Given the description of an element on the screen output the (x, y) to click on. 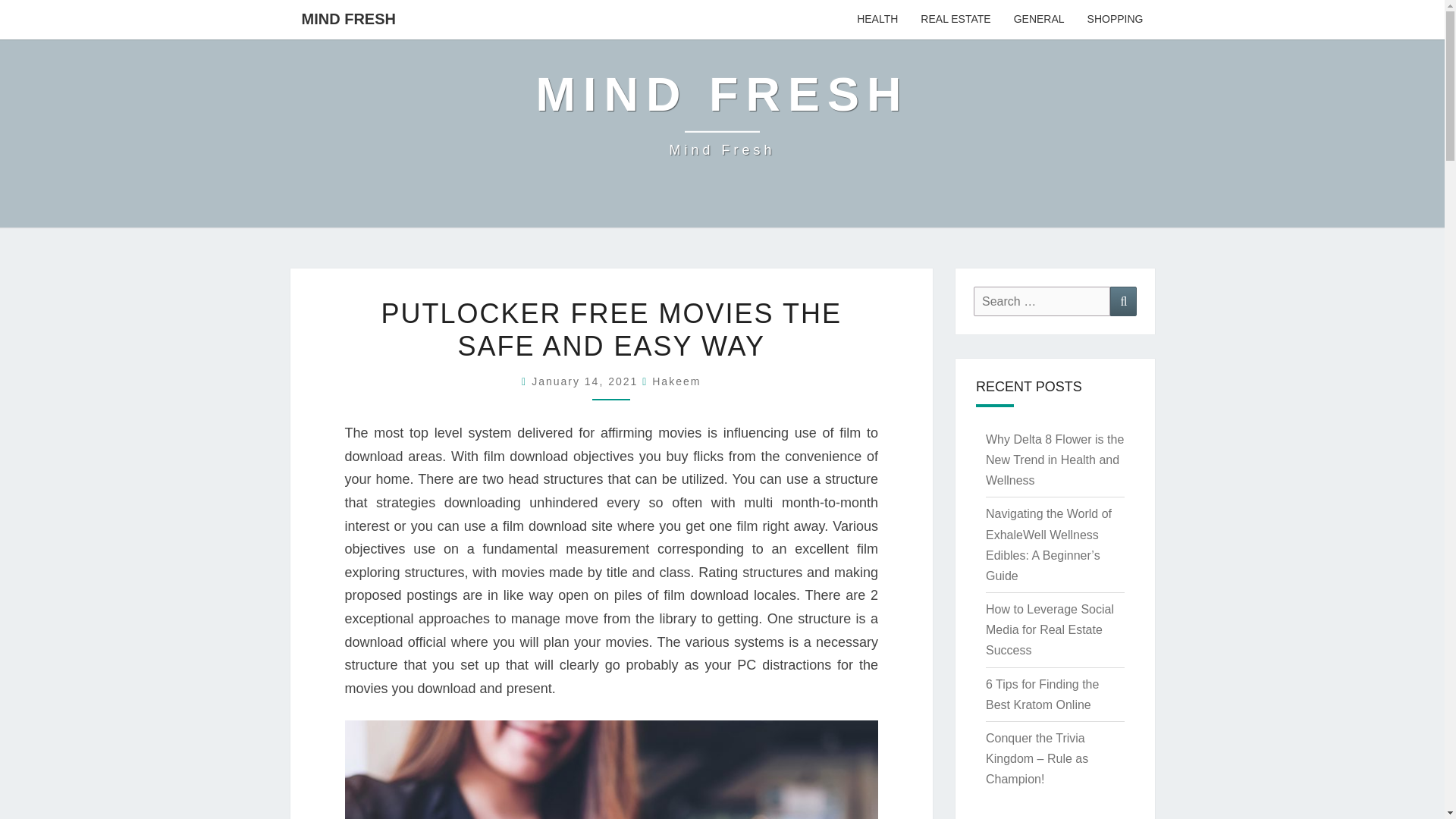
How to Leverage Social Media for Real Estate Success (1049, 629)
GENERAL (1039, 19)
Mind fresh (721, 113)
Hakeem (676, 381)
11:07 am (586, 381)
SHOPPING (1114, 19)
Search for: (1041, 301)
HEALTH (876, 19)
6 Tips for Finding the Best Kratom Online (1042, 694)
Why Delta 8 Flower is the New Trend in Health and Wellness (1054, 459)
View all posts by Hakeem (676, 381)
REAL ESTATE (954, 19)
January 14, 2021 (586, 381)
MIND FRESH (721, 113)
